Given the description of an element on the screen output the (x, y) to click on. 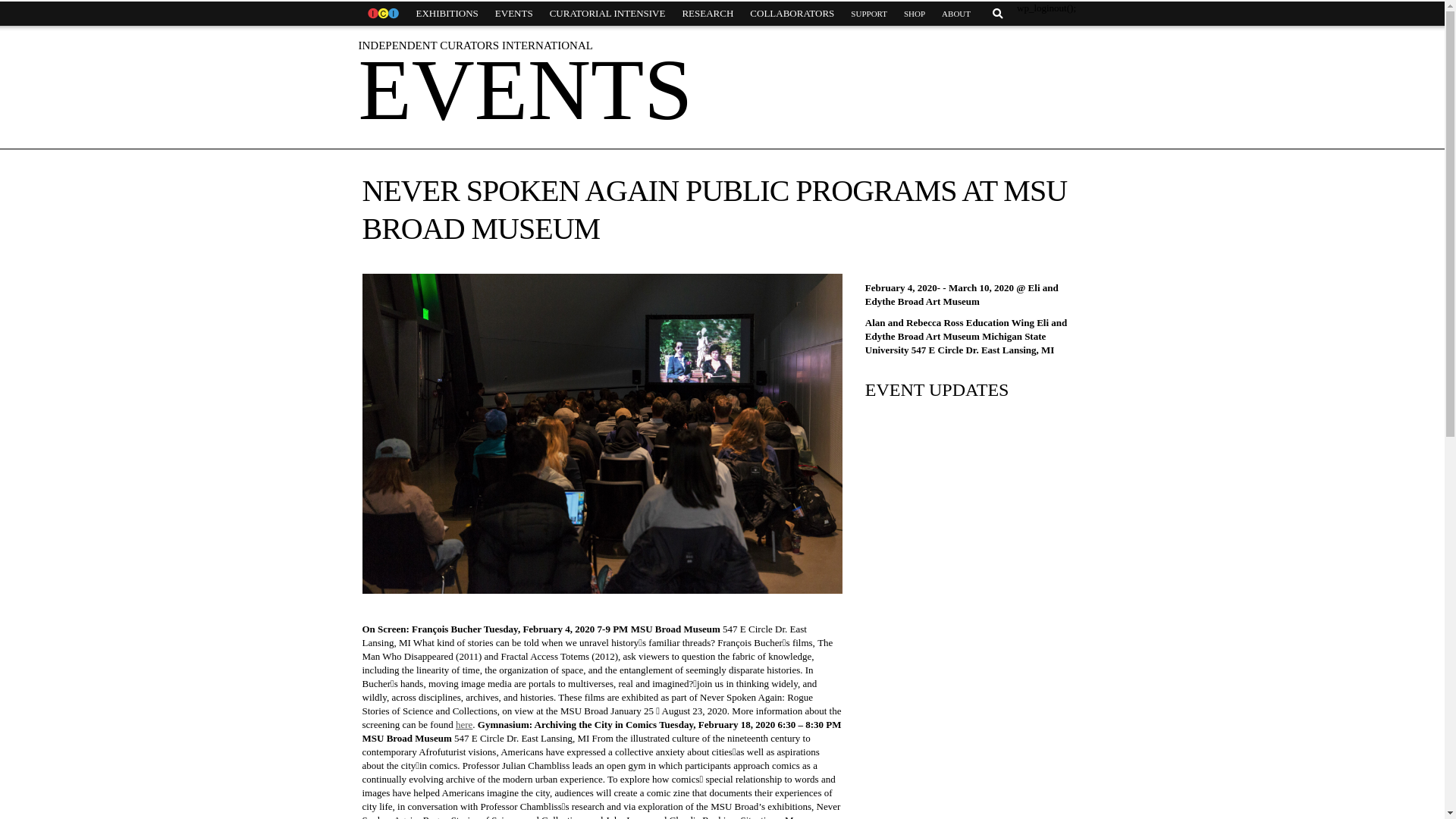
RESEARCH (706, 13)
EVENTS (513, 13)
CURATORIAL INTENSIVE (607, 13)
EXHIBITIONS (446, 13)
COLLABORATORS (792, 13)
HOME (382, 13)
